Given the description of an element on the screen output the (x, y) to click on. 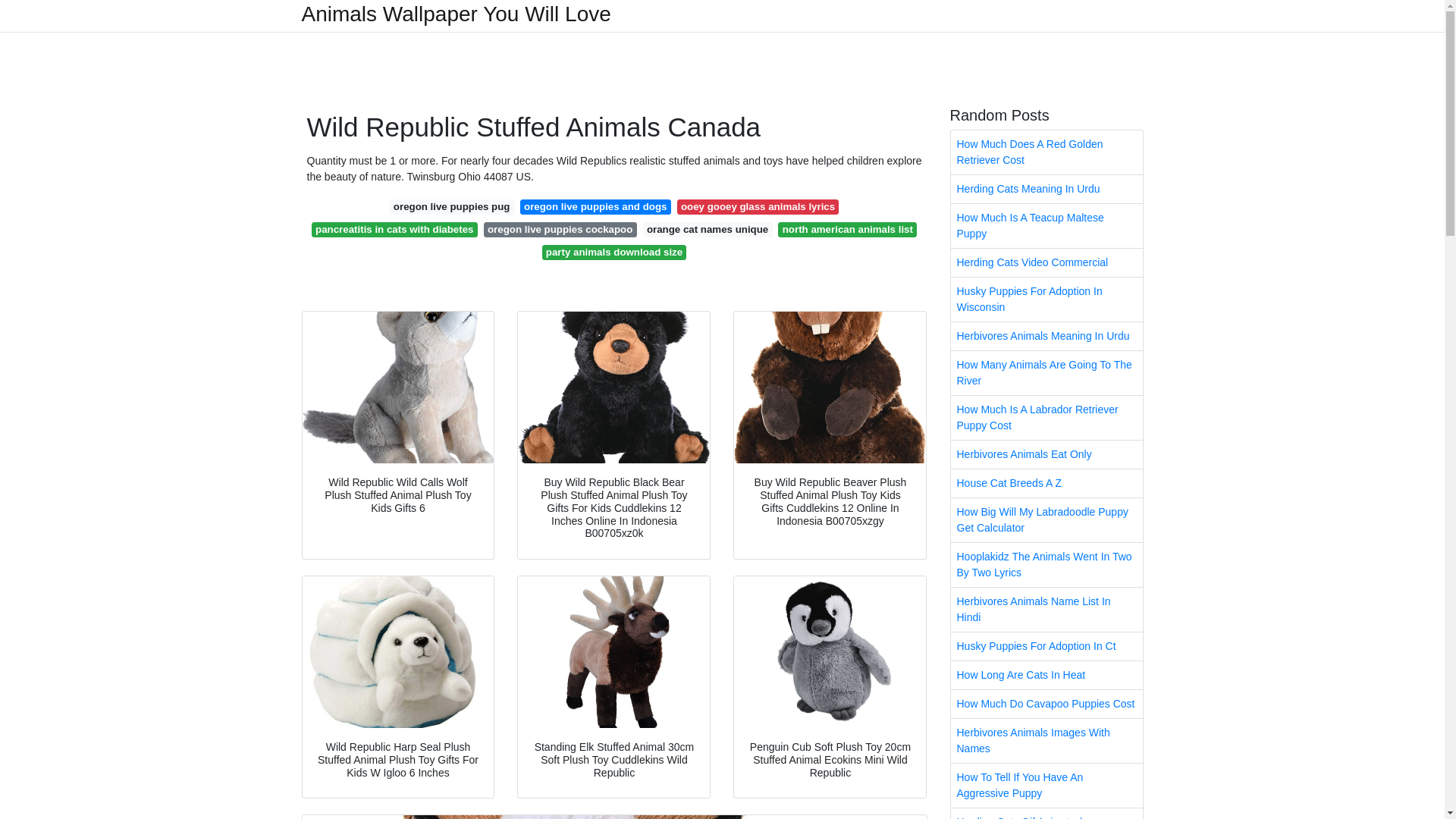
How Many Animals Are Going To The River (1046, 372)
pancreatitis in cats with diabetes (394, 229)
ooey gooey glass animals lyrics (758, 206)
House Cat Breeds A Z (1046, 483)
north american animals list (847, 229)
Animals Wallpaper You Will Love (456, 13)
party animals download size (614, 252)
How Much Is A Teacup Maltese Puppy (1046, 225)
Herbivores Animals Meaning In Urdu (1046, 336)
Husky Puppies For Adoption In Wisconsin (1046, 299)
